Given the description of an element on the screen output the (x, y) to click on. 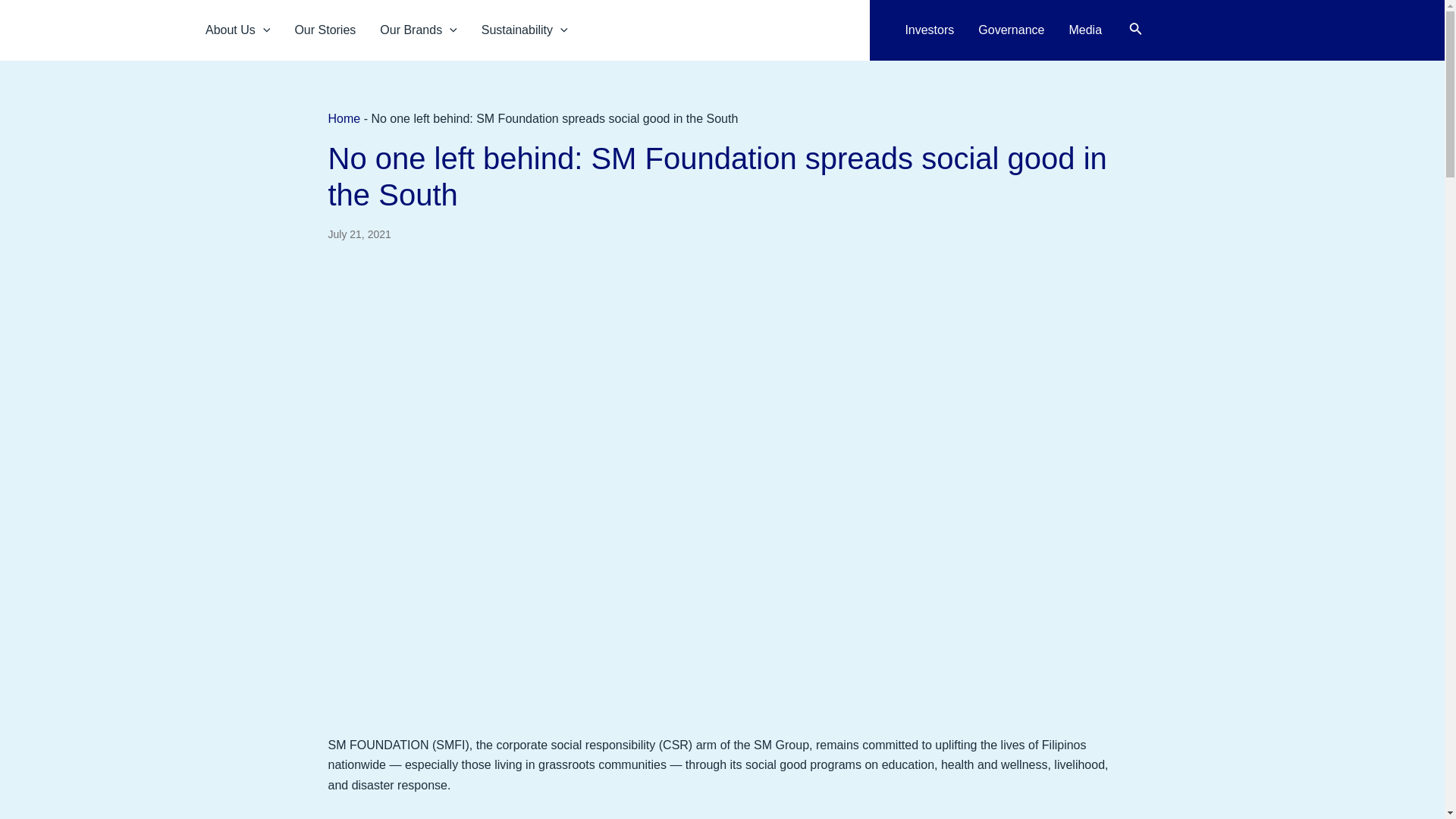
Media (1085, 30)
Sustainability (523, 30)
About Us (237, 30)
Our Stories (325, 30)
Governance (1011, 30)
Investors (929, 30)
Our Brands (418, 30)
